Given the description of an element on the screen output the (x, y) to click on. 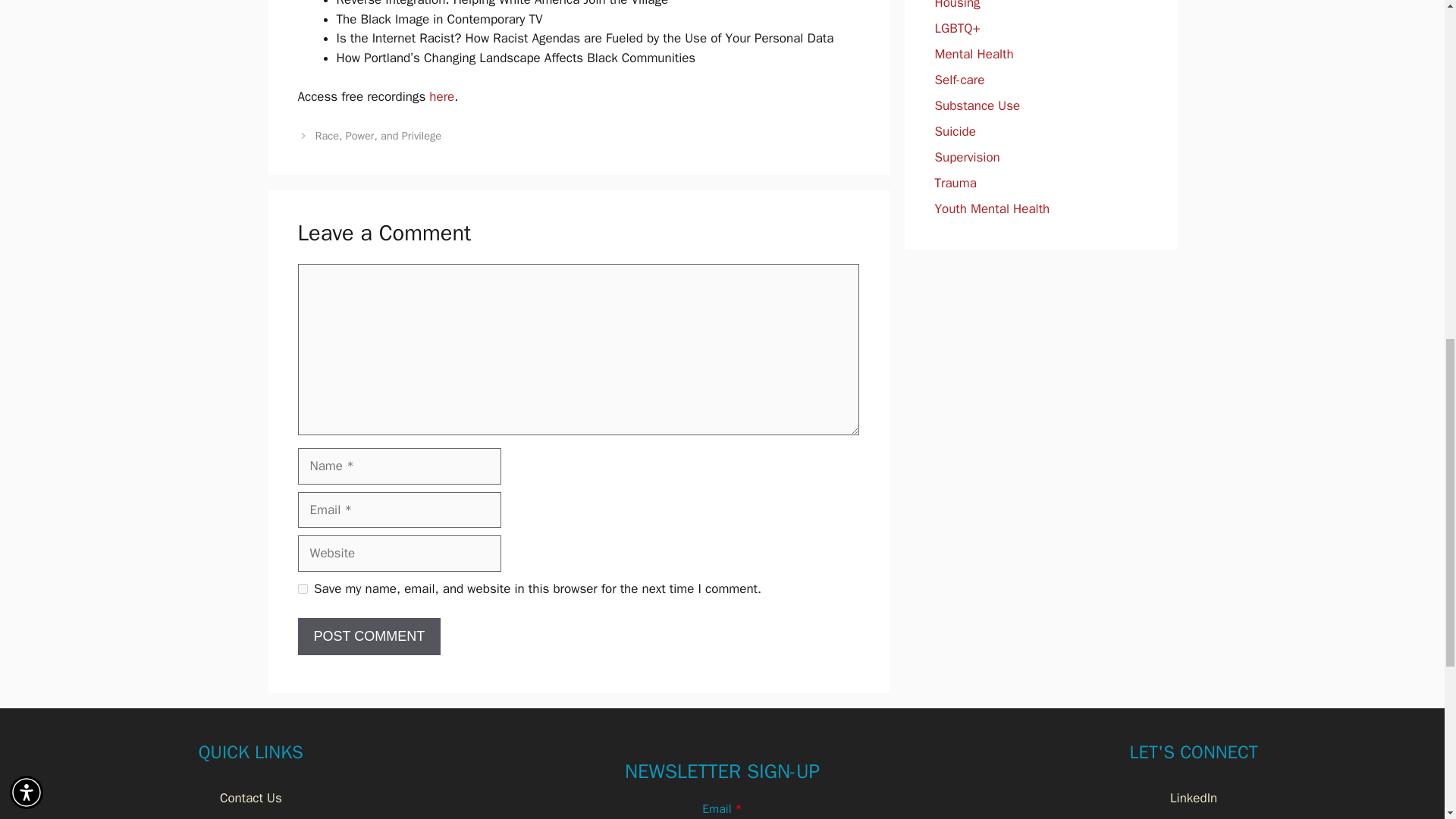
Mental Health (973, 53)
Suicide (954, 131)
Race, Power, and Privilege (378, 135)
Youth Mental Health (991, 208)
here (441, 96)
Trauma (954, 182)
Self-care (959, 79)
Substance Use (977, 105)
Us (272, 797)
Contact (241, 797)
Post Comment (369, 636)
Post Comment (369, 636)
yes (302, 588)
Next (378, 135)
Housing (956, 5)
